Given the description of an element on the screen output the (x, y) to click on. 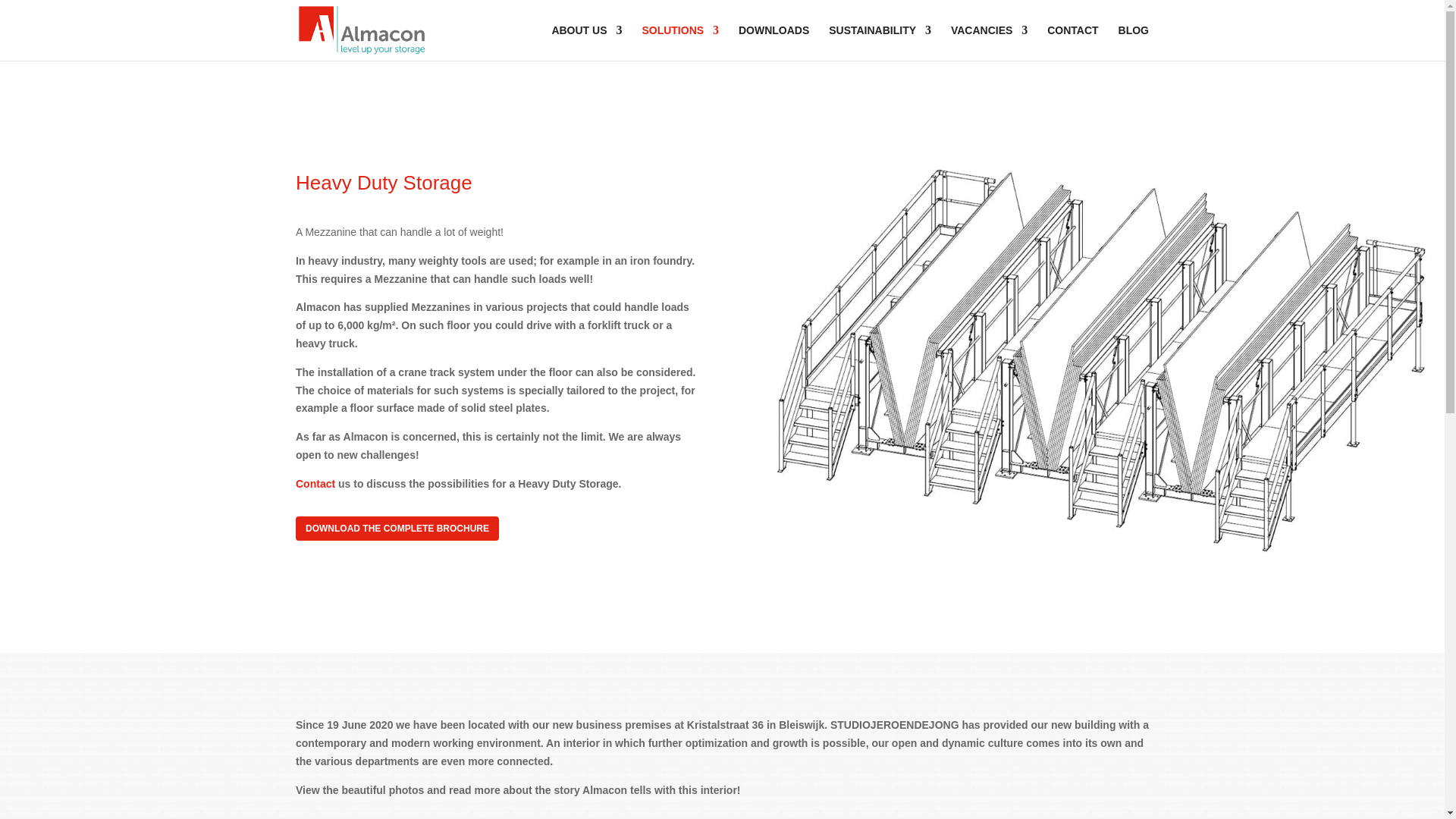
SUSTAINABILITY (879, 42)
BLOG (1133, 42)
DOWNLOADS (773, 42)
SOLUTIONS (680, 42)
CONTACT (1071, 42)
ABOUT US (586, 42)
VACANCIES (988, 42)
